Given the description of an element on the screen output the (x, y) to click on. 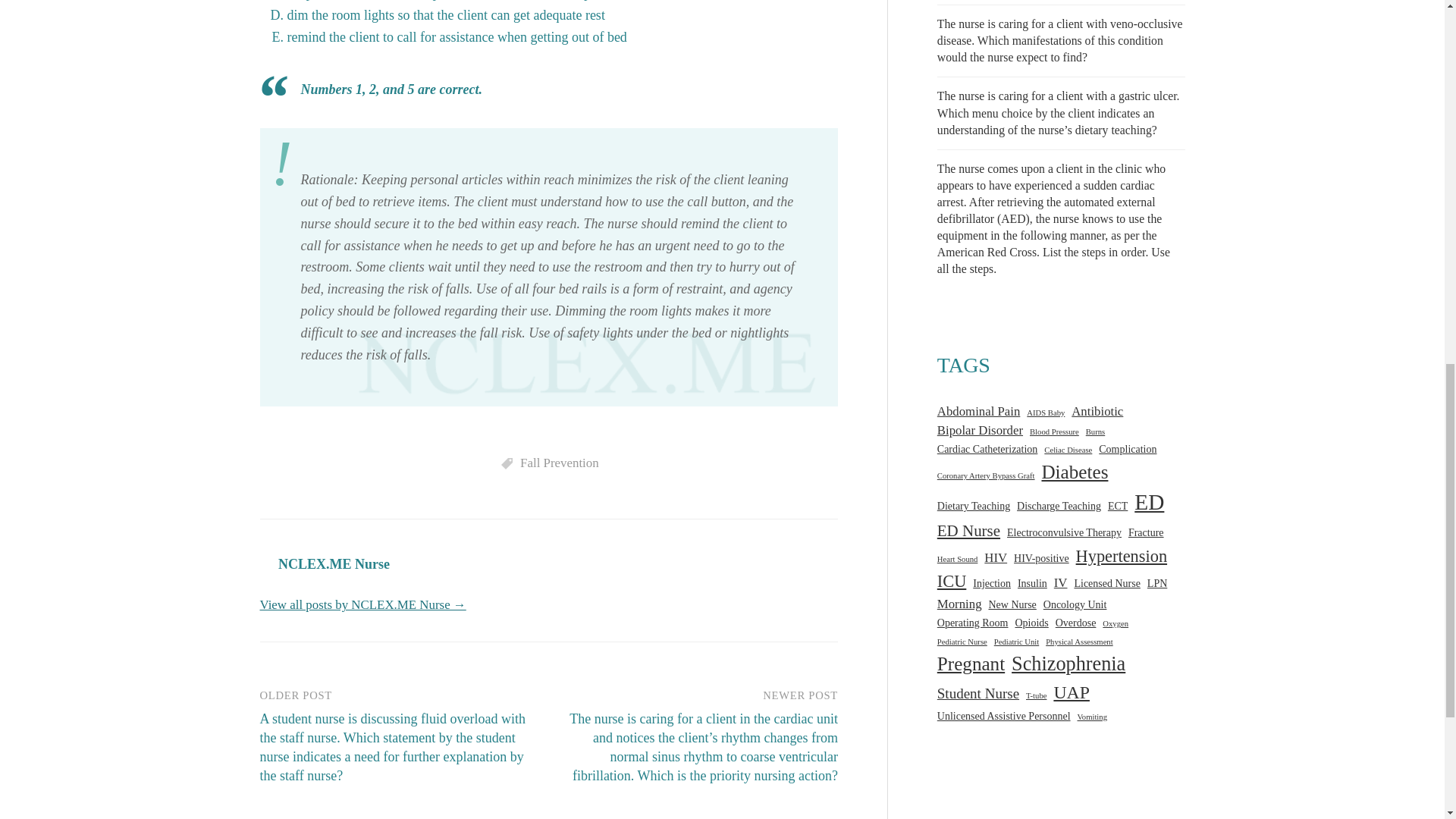
Fall Prevention (558, 462)
